Given the description of an element on the screen output the (x, y) to click on. 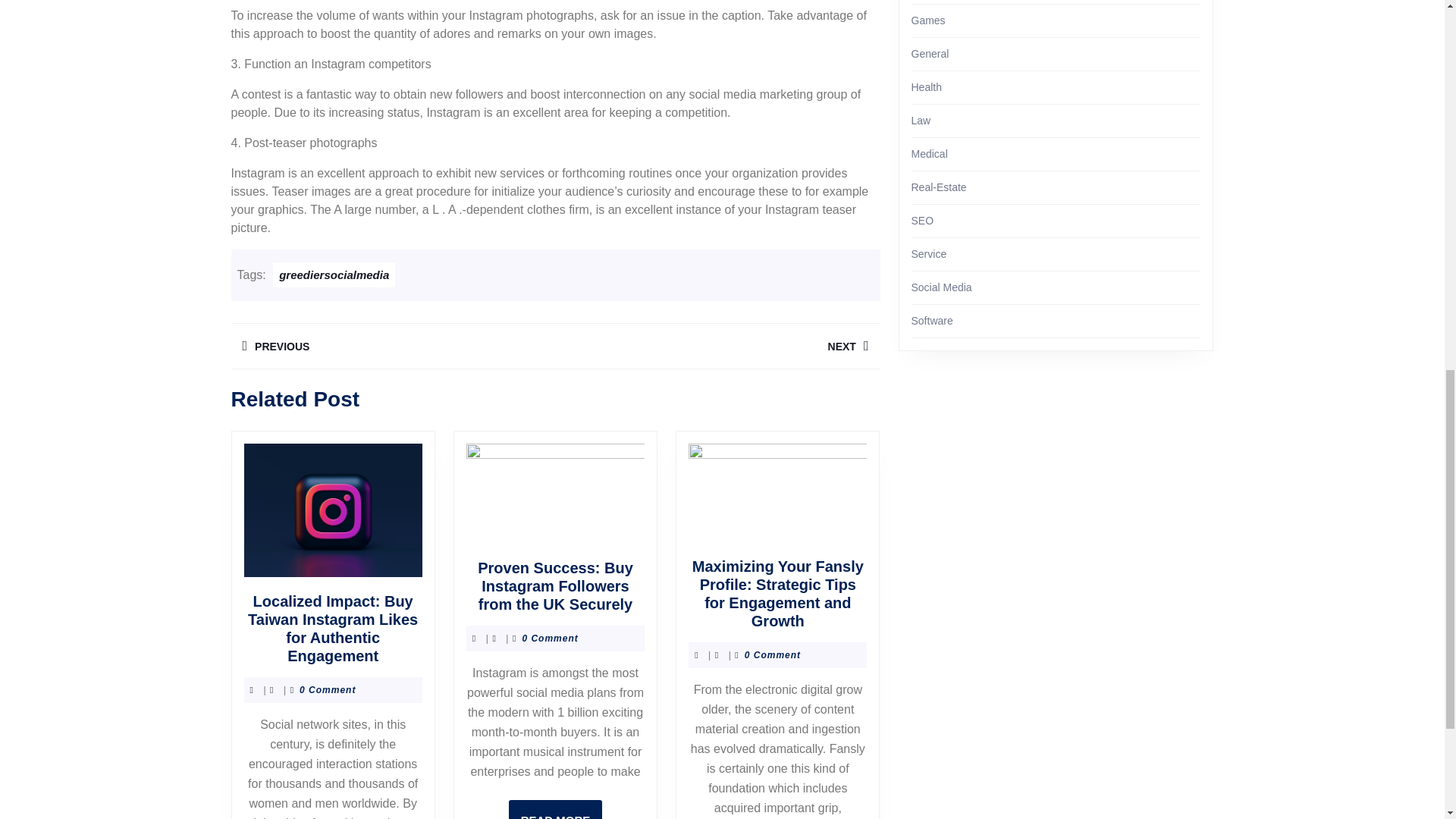
greediersocialmedia (333, 274)
